Given the description of an element on the screen output the (x, y) to click on. 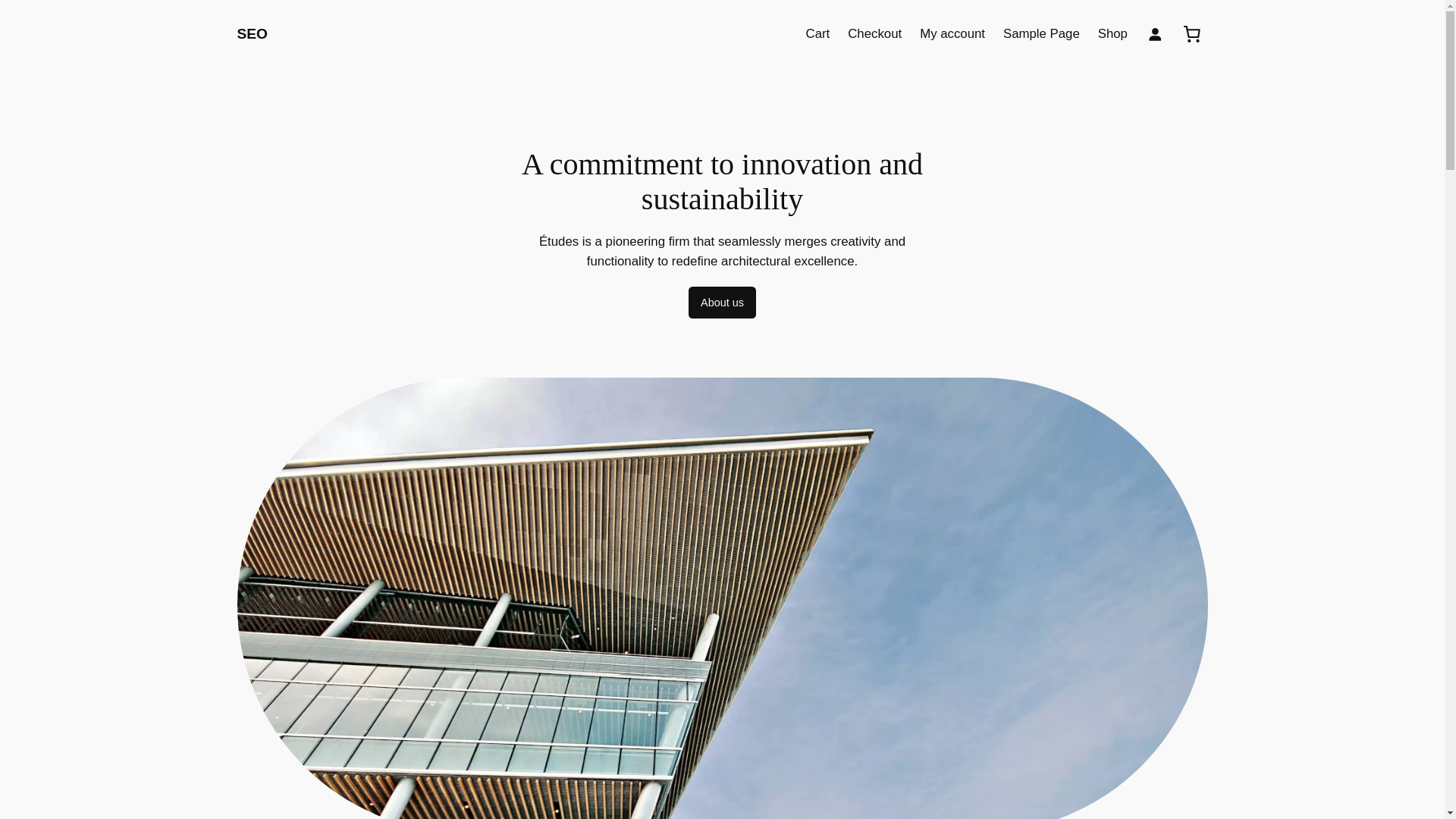
About us (721, 302)
Sample Page (1041, 34)
Checkout (874, 34)
Cart (817, 34)
SEO (251, 33)
Shop (1111, 34)
My account (952, 34)
